Given the description of an element on the screen output the (x, y) to click on. 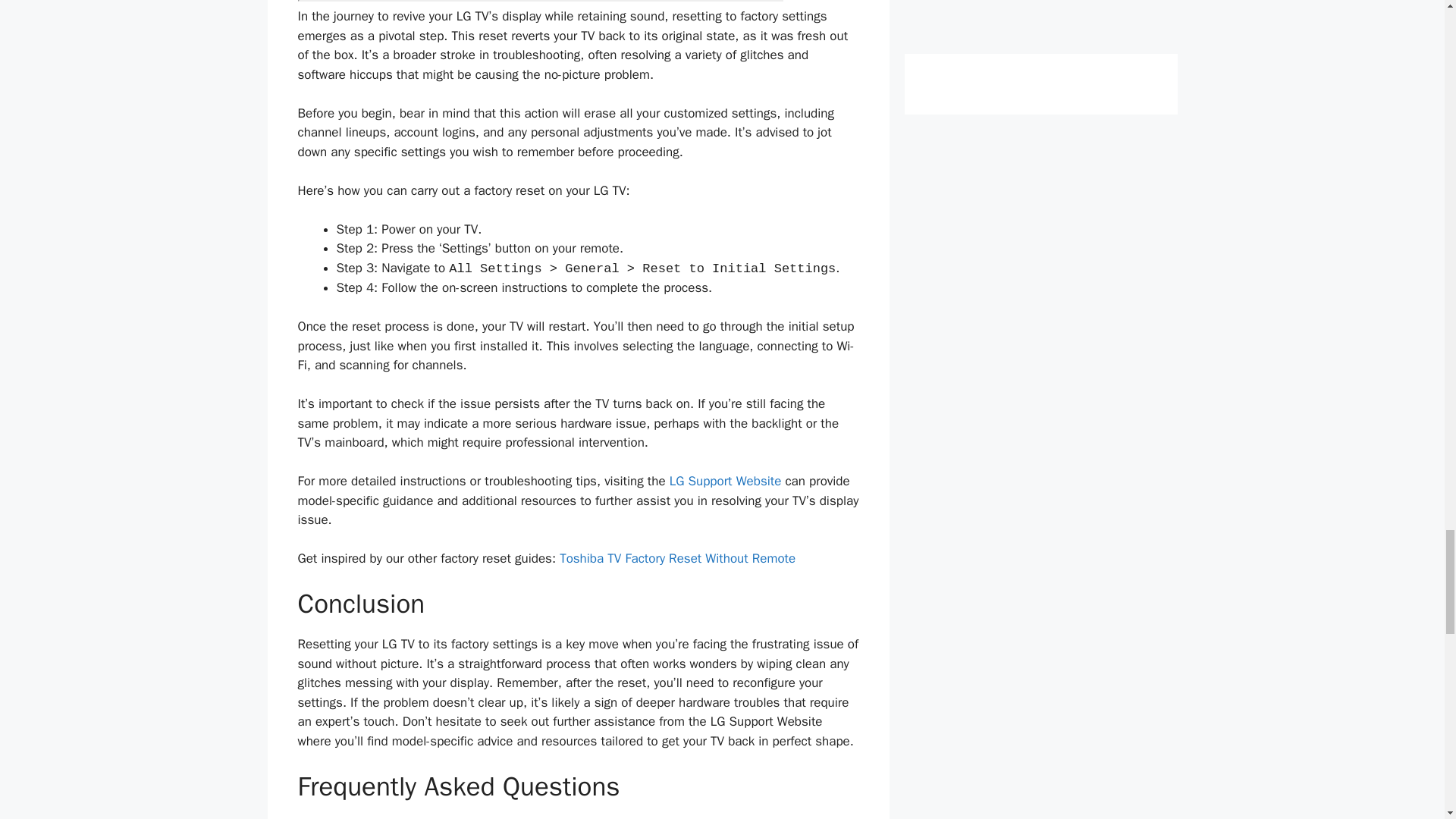
Toshiba TV Factory Reset Without Remote (676, 558)
LG Support Website (725, 480)
